Given the description of an element on the screen output the (x, y) to click on. 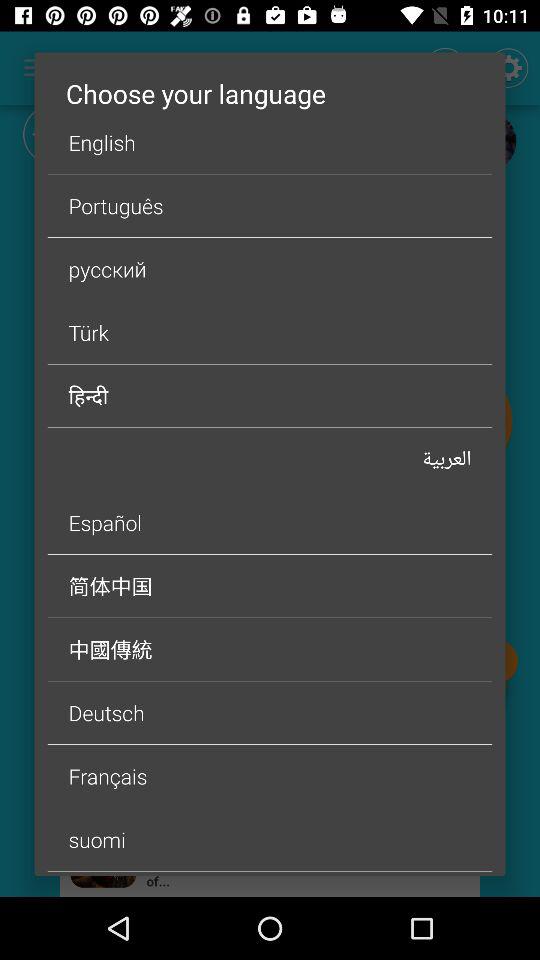
swipe to deutsch item (269, 712)
